Given the description of an element on the screen output the (x, y) to click on. 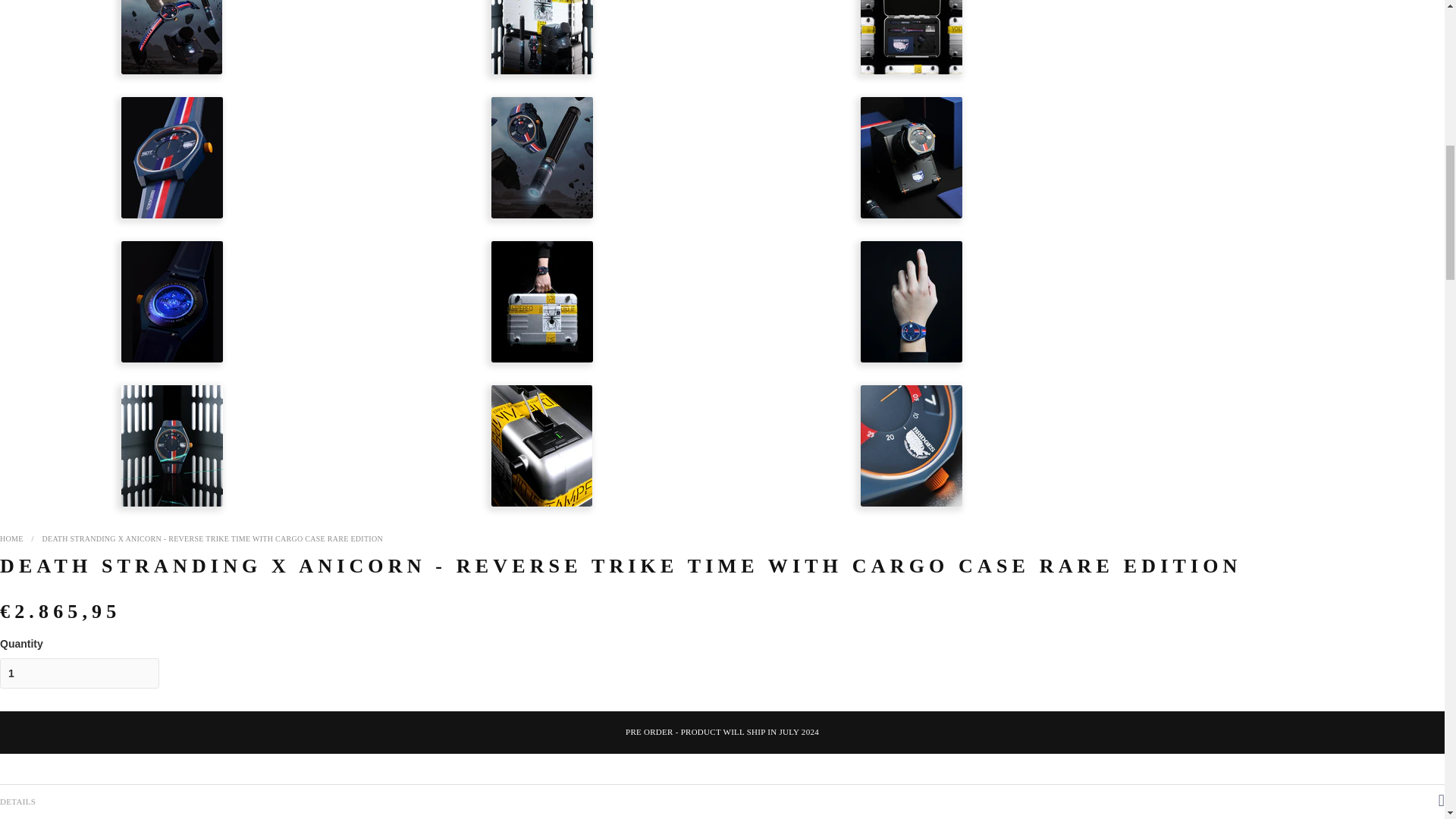
1 (79, 672)
Home (11, 538)
